Given the description of an element on the screen output the (x, y) to click on. 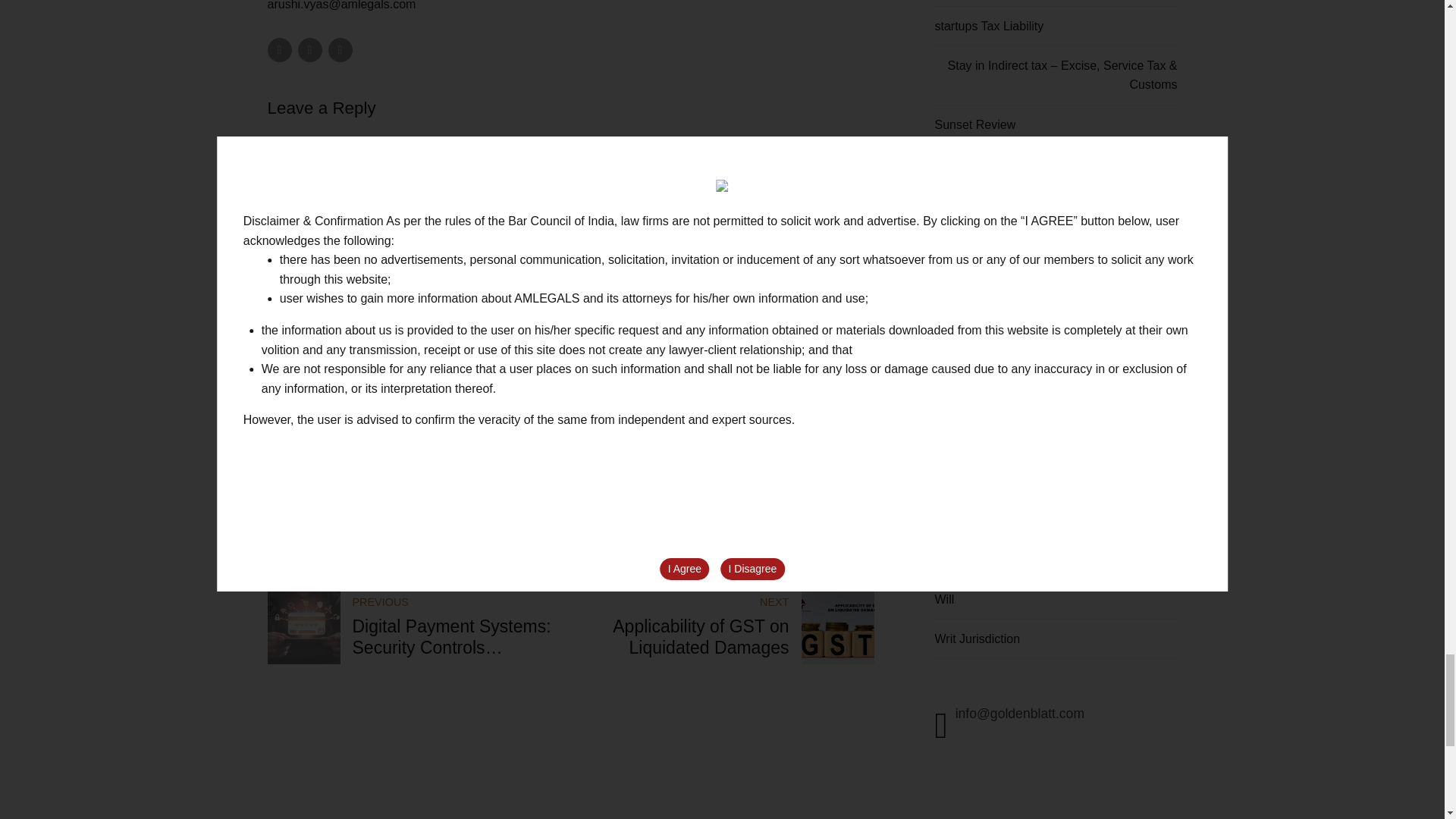
Submit Comment (569, 560)
Share on Facebook (278, 49)
Share on Linkedin (339, 49)
Share on Twitter (309, 49)
Submit Comment (569, 560)
yes (271, 521)
